Given the description of an element on the screen output the (x, y) to click on. 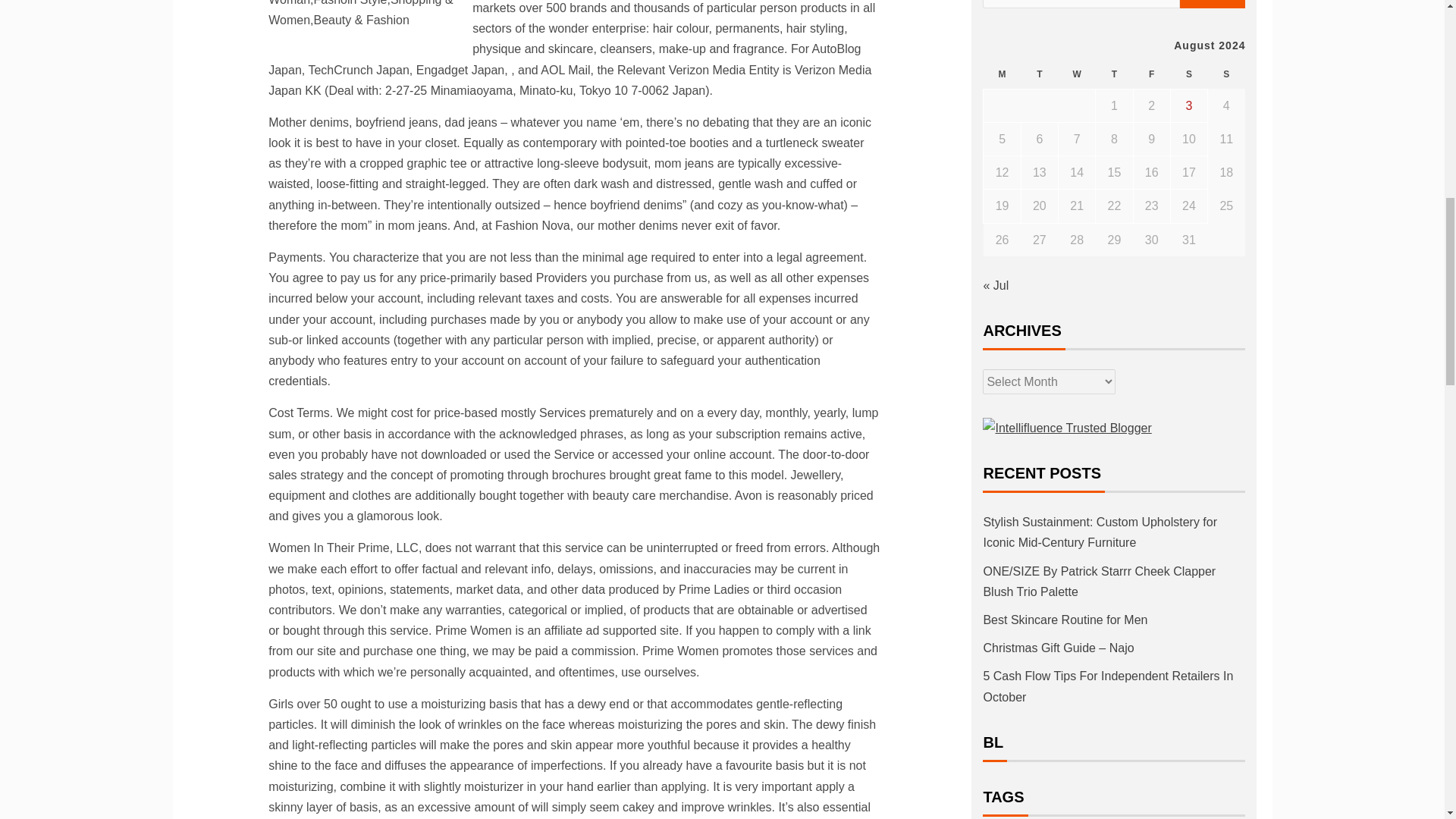
Wednesday (1077, 74)
Friday (1151, 74)
Tuesday (1039, 74)
Monday (1002, 74)
Search (1212, 4)
Thursday (1114, 74)
Search (1212, 4)
